Given the description of an element on the screen output the (x, y) to click on. 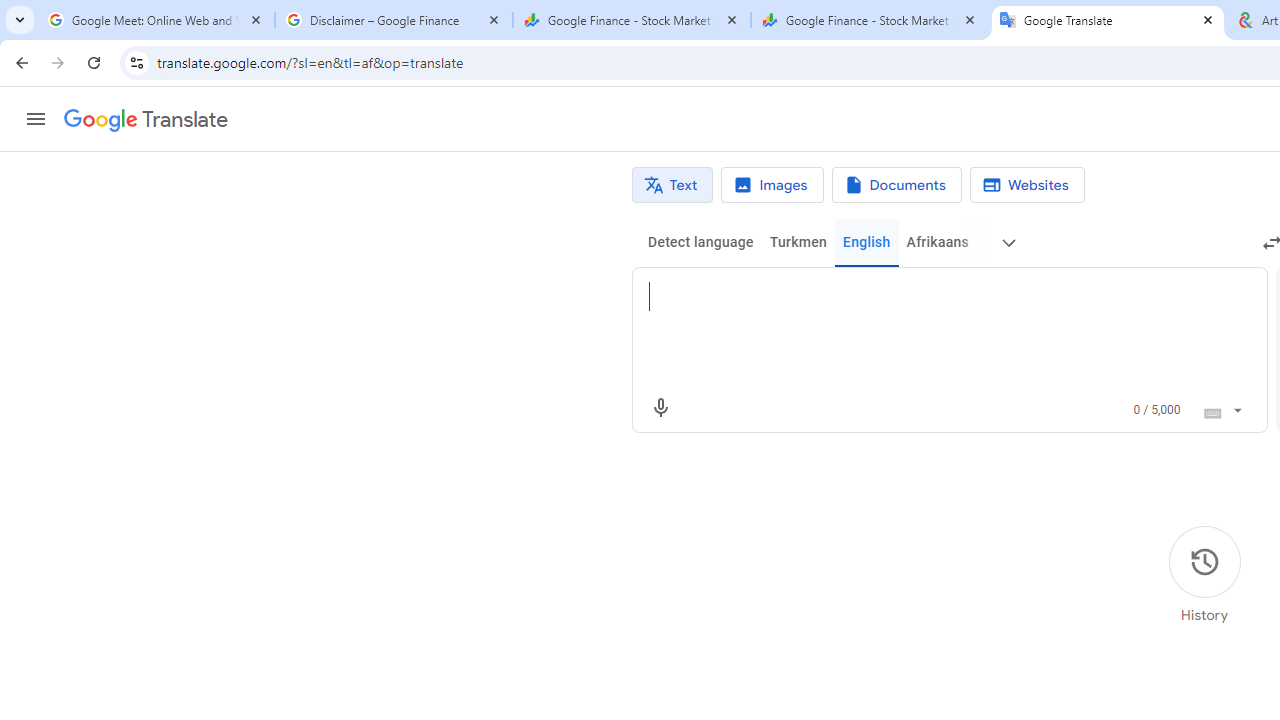
Afrikaans (937, 242)
